Given the description of an element on the screen output the (x, y) to click on. 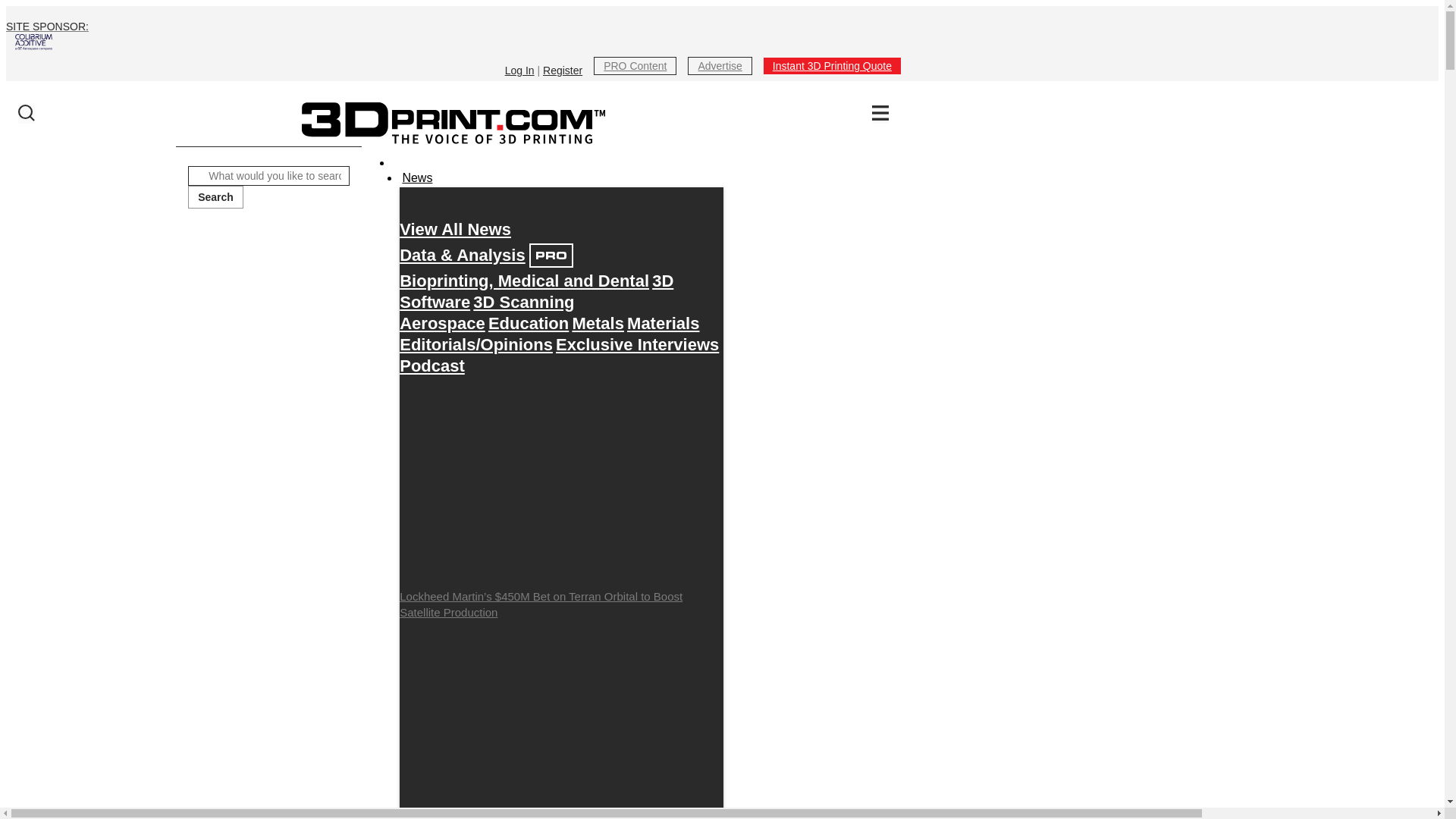
Search (215, 196)
Bioprinting, Medical and Dental (523, 280)
News (415, 178)
Aerospace (441, 323)
3D Scanning (523, 301)
Instant 3D Printing Quote (831, 65)
Podcast (431, 365)
PRO Content (635, 65)
View All News (454, 229)
Materials (662, 323)
